Given the description of an element on the screen output the (x, y) to click on. 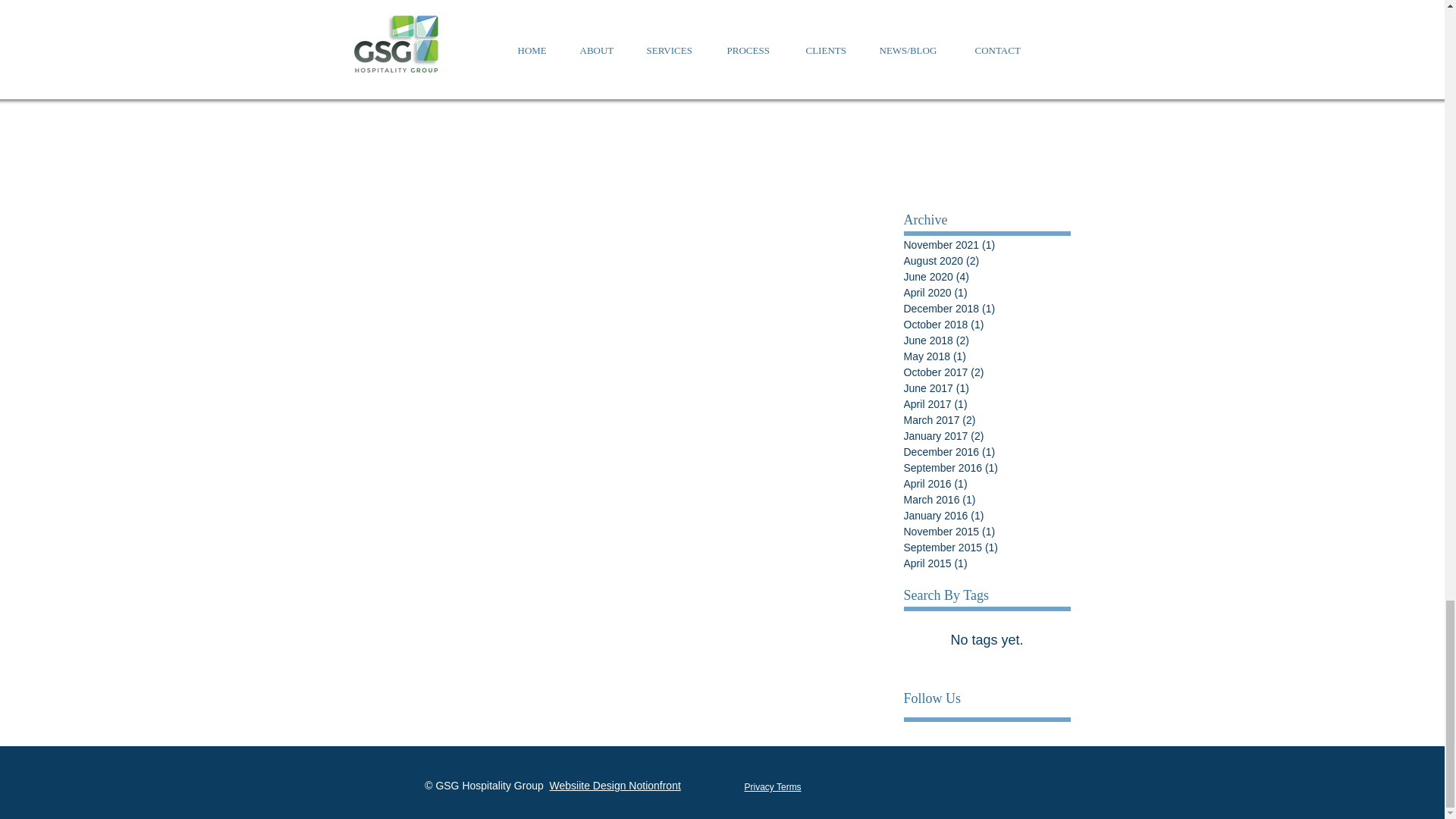
NEWS (825, 33)
Post not marked as liked (835, 78)
